Given the description of an element on the screen output the (x, y) to click on. 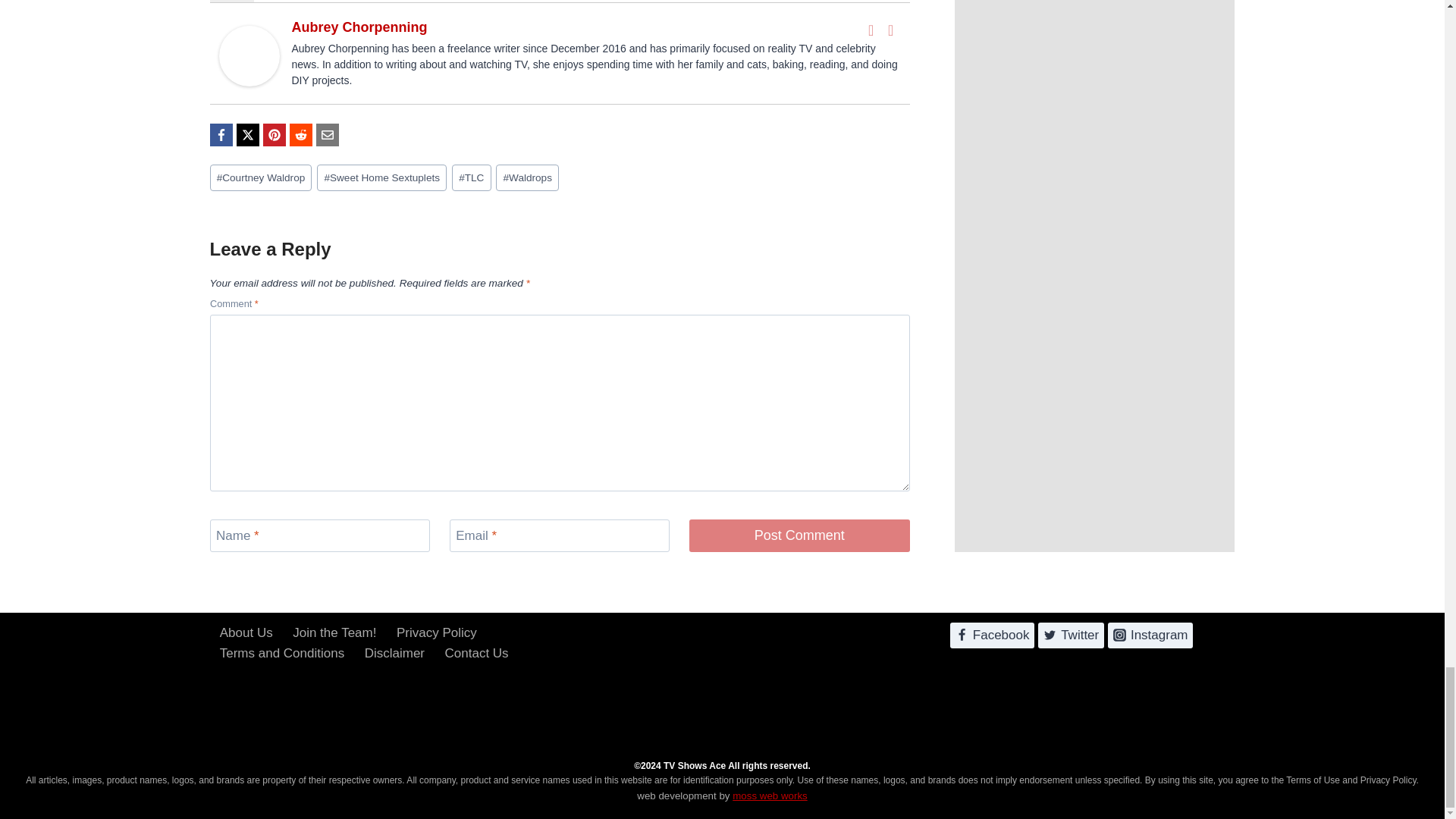
Aubrey Chorpenning (358, 27)
Twitter (890, 30)
Courtney Waldrop (260, 177)
Author (231, 1)
Sweet Home Sextuplets (381, 177)
TLC (471, 177)
Recent Posts (293, 1)
Aubrey Chorpenning (248, 55)
Waldrops (527, 177)
Post Comment (799, 535)
